Given the description of an element on the screen output the (x, y) to click on. 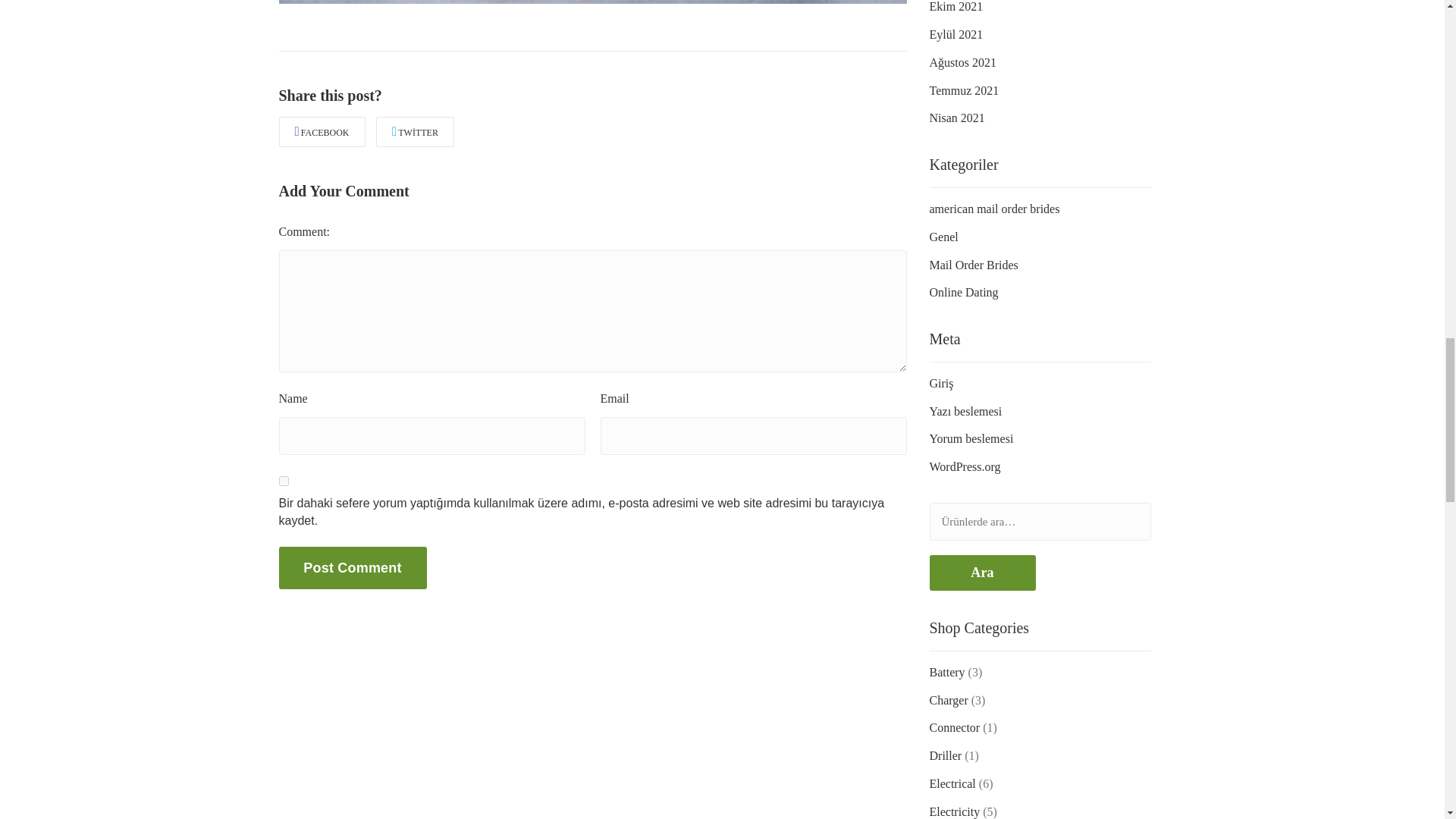
FACEBOOK (322, 132)
Post Comment (352, 567)
Share On Twitter (414, 132)
yes (283, 480)
Post Comment (352, 567)
TWITTER (414, 132)
Share On Facebook (322, 132)
